Given the description of an element on the screen output the (x, y) to click on. 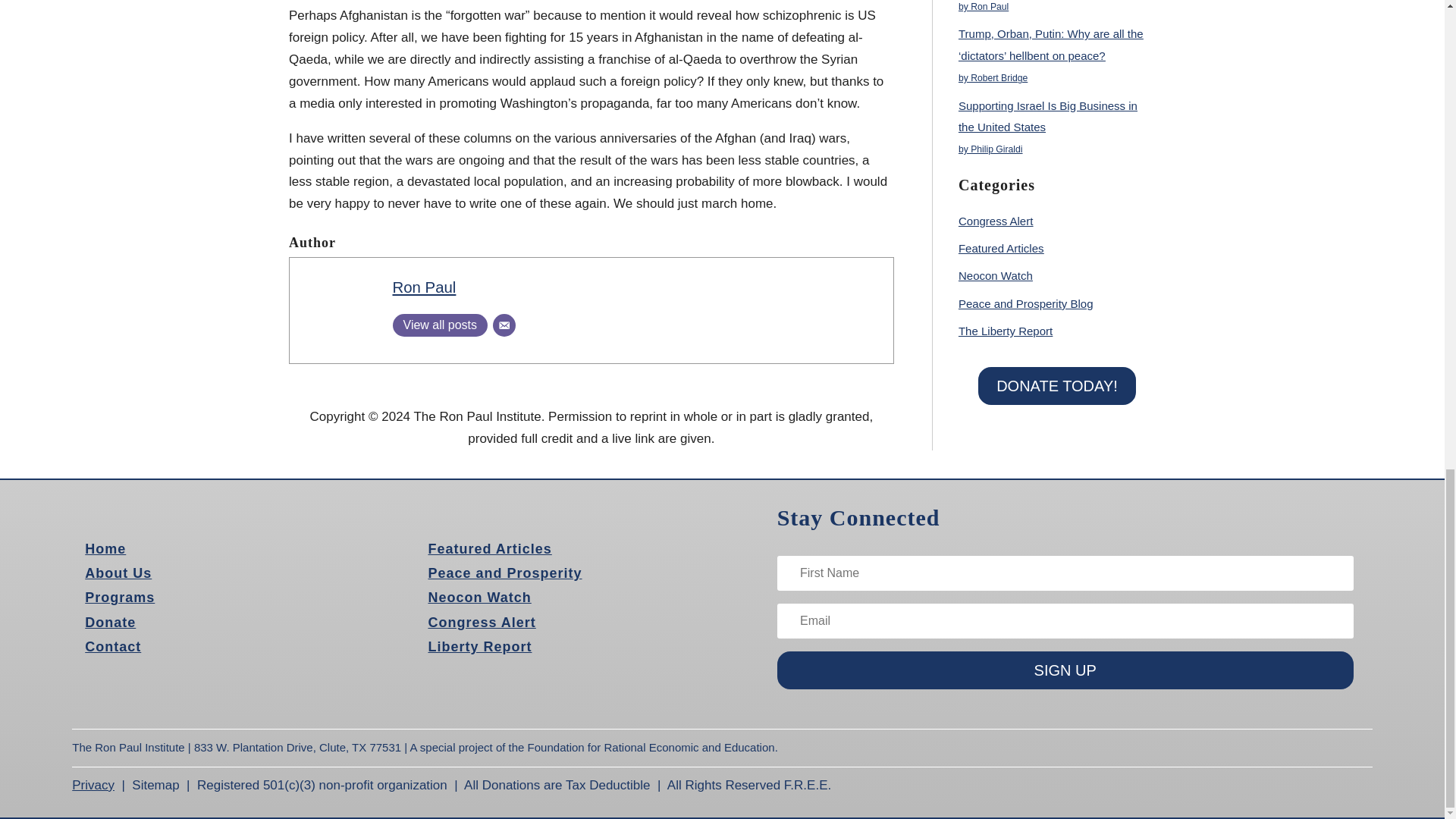
Ron Paul (425, 287)
View all posts (440, 324)
Review our Privacy Policy (93, 785)
Ron Paul (425, 287)
View all posts (440, 324)
